Given the description of an element on the screen output the (x, y) to click on. 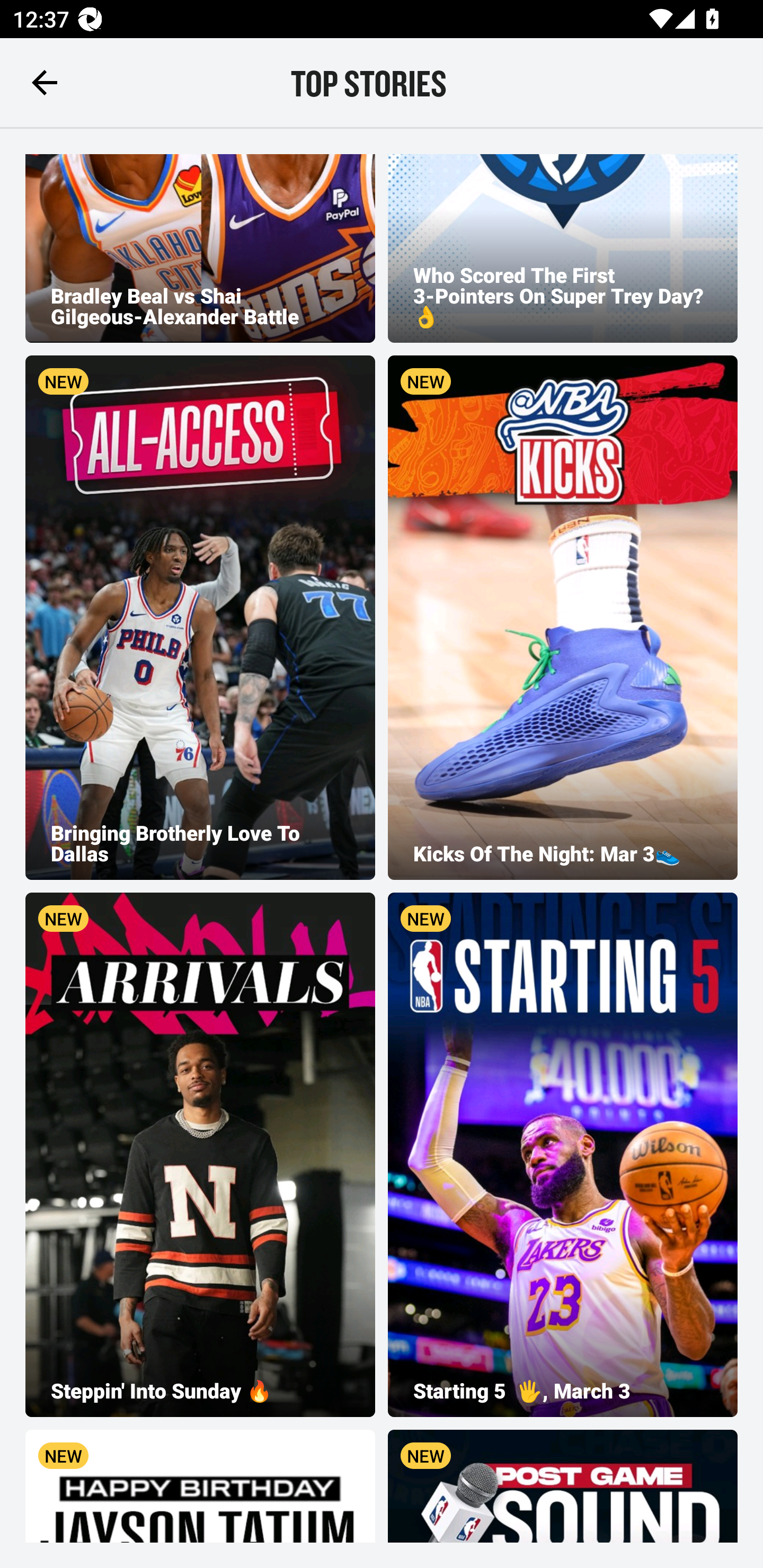
Navigate up (44, 82)
Bradley Beal vs Shai Gilgeous-Alexander Battle (200, 248)
NEW Bringing Brotherly Love To Dallas (200, 617)
NEW Kicks Of The Night: Mar 3👟 (562, 617)
NEW Steppin' Into Sunday 🔥 (200, 1154)
NEW Starting 5  🖐️, March 3 (562, 1154)
